Given the description of an element on the screen output the (x, y) to click on. 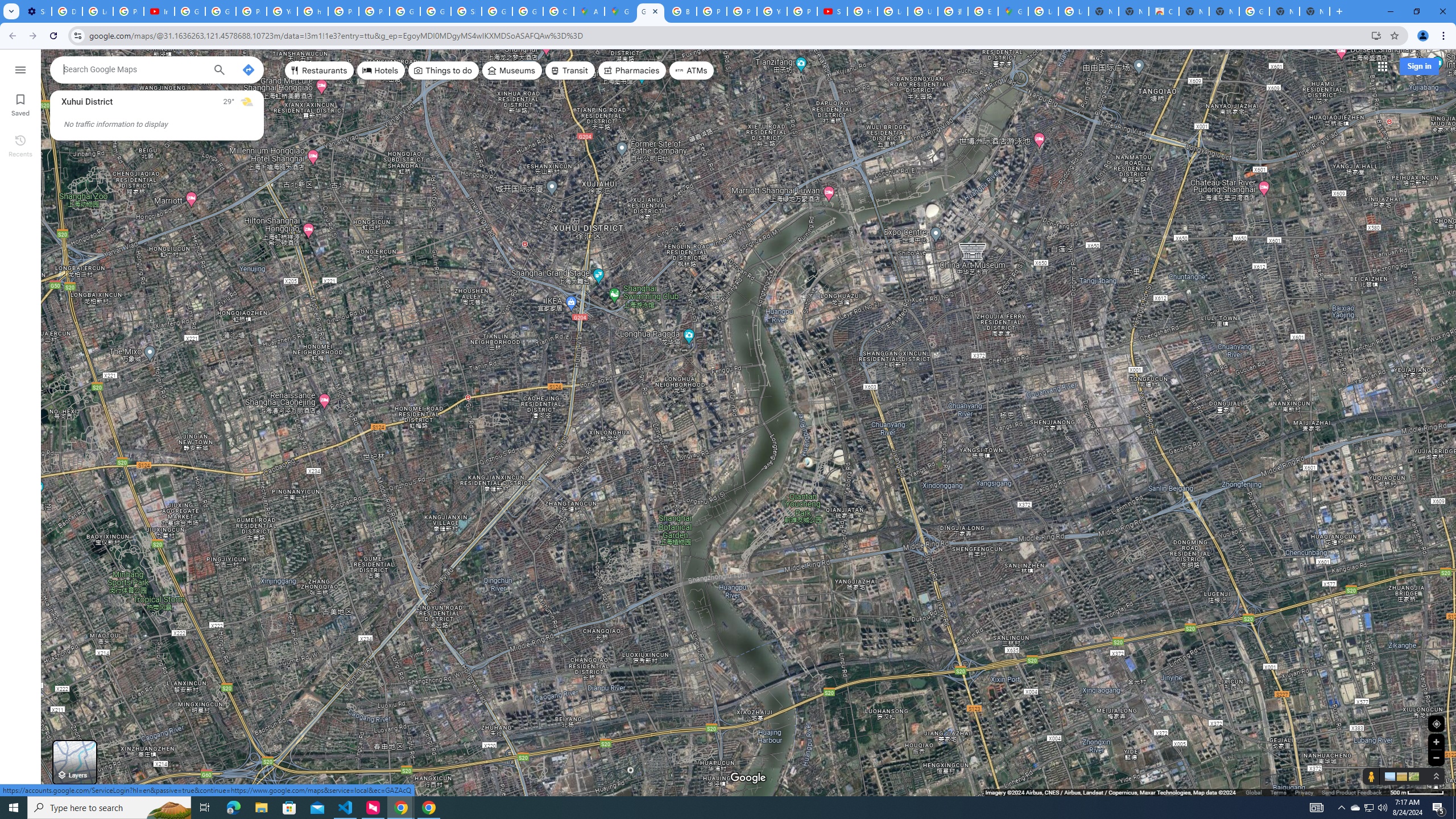
Zoom in (1436, 741)
Privacy Help Center - Policies Help (343, 11)
Introduction | Google Privacy Policy - YouTube (158, 11)
YouTube (282, 11)
Transit (569, 70)
Restaurants (319, 70)
Show imagery (1412, 776)
Saved (20, 104)
Send Product Feedback (1351, 792)
Zoom out (1436, 757)
ATMs (691, 70)
